Given the description of an element on the screen output the (x, y) to click on. 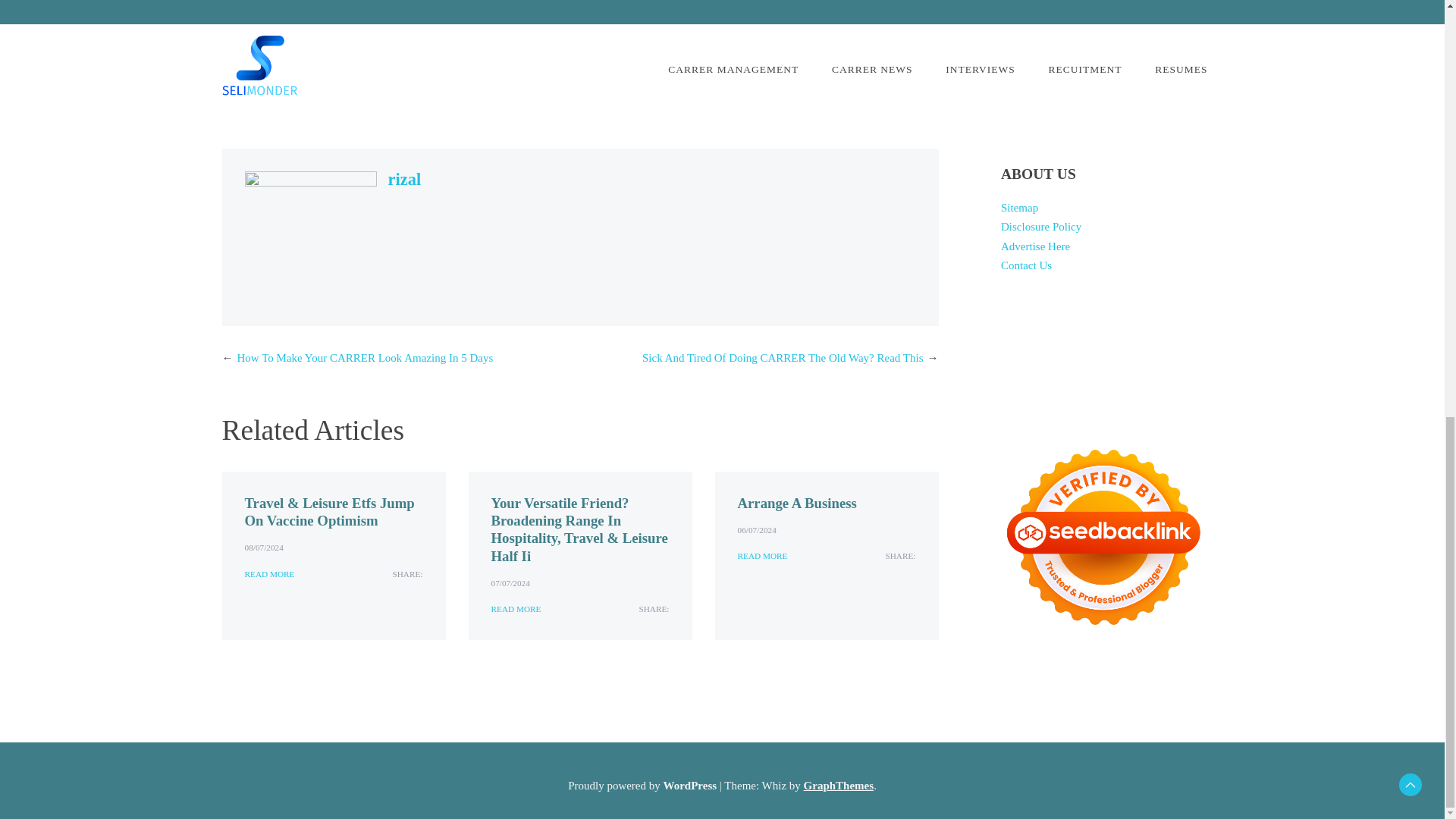
Seedbacklink (1103, 536)
rizal (405, 179)
READ MORE (269, 574)
Arrange A Business (796, 503)
READ MORE (761, 555)
READ MORE (516, 608)
Sick And Tired Of Doing CARRER The Old Way? Read This (782, 357)
How To Make Your CARRER Look Amazing In 5 Days (364, 357)
